Given the description of an element on the screen output the (x, y) to click on. 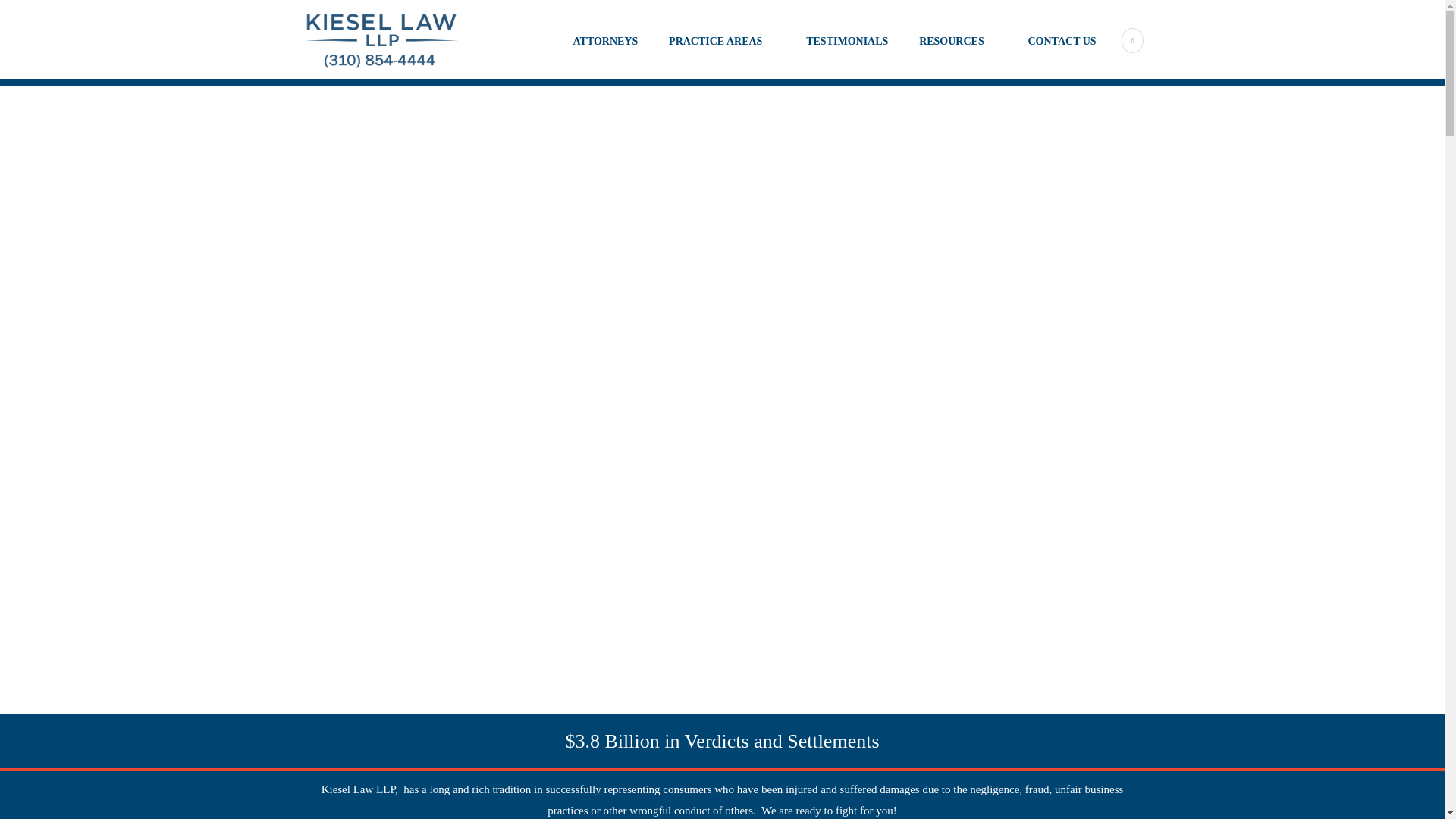
ATTORNEYS (601, 54)
PRACTICE AREAS (705, 54)
CONTACT US (1046, 54)
TESTIMONIALS (831, 54)
RESOURCES (941, 54)
